Given the description of an element on the screen output the (x, y) to click on. 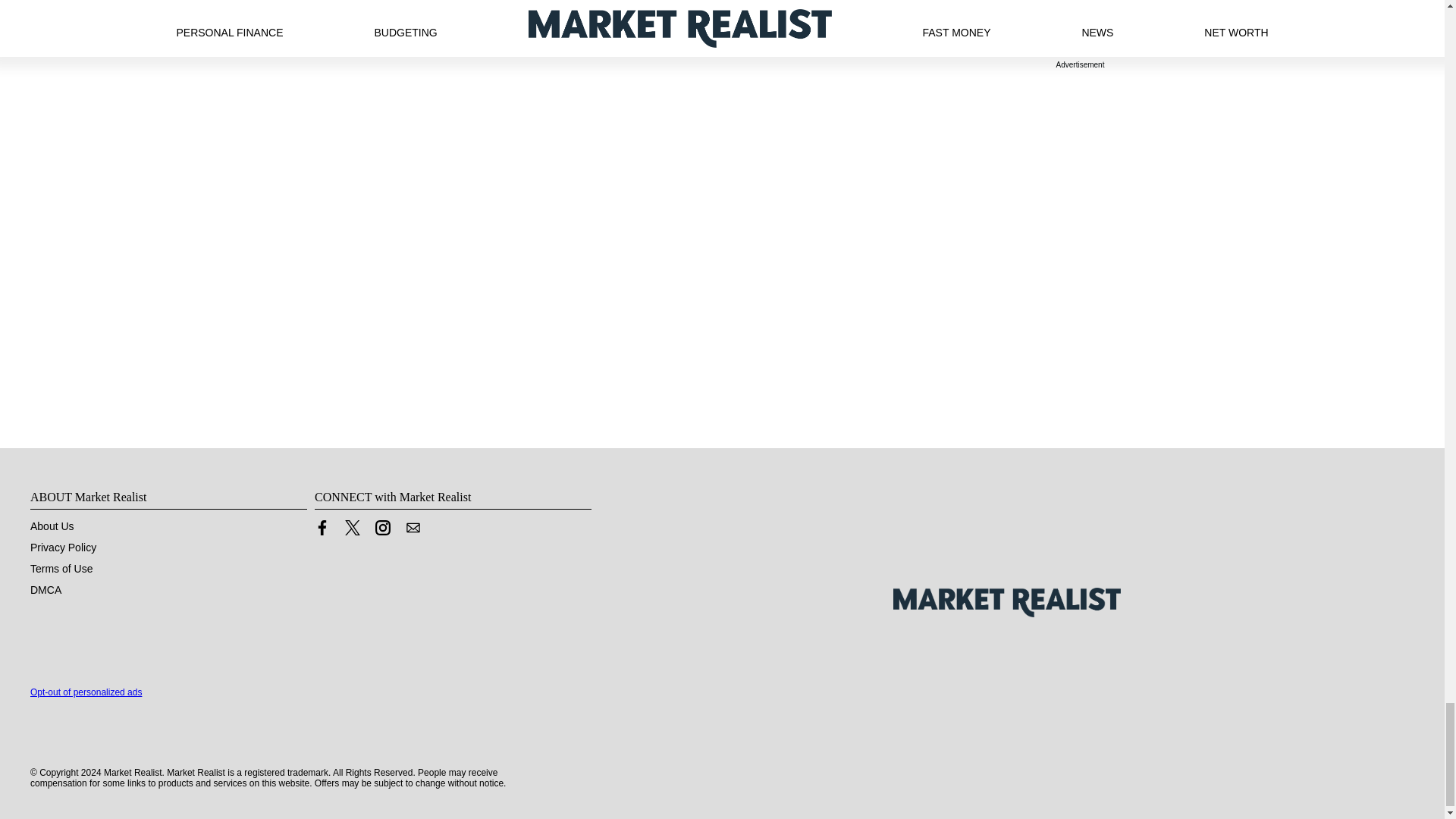
Link to Instagram (382, 531)
Terms of Use (61, 568)
Privacy Policy (63, 547)
DMCA (45, 589)
Contact us by Email (413, 527)
Link to X (352, 531)
Link to X (352, 527)
Opt-out of personalized ads (85, 692)
Terms of Use (61, 568)
About Us (52, 526)
About Us (52, 526)
Link to Instagram (382, 527)
Privacy Policy (63, 547)
Link to Facebook (322, 527)
DMCA (45, 589)
